Given the description of an element on the screen output the (x, y) to click on. 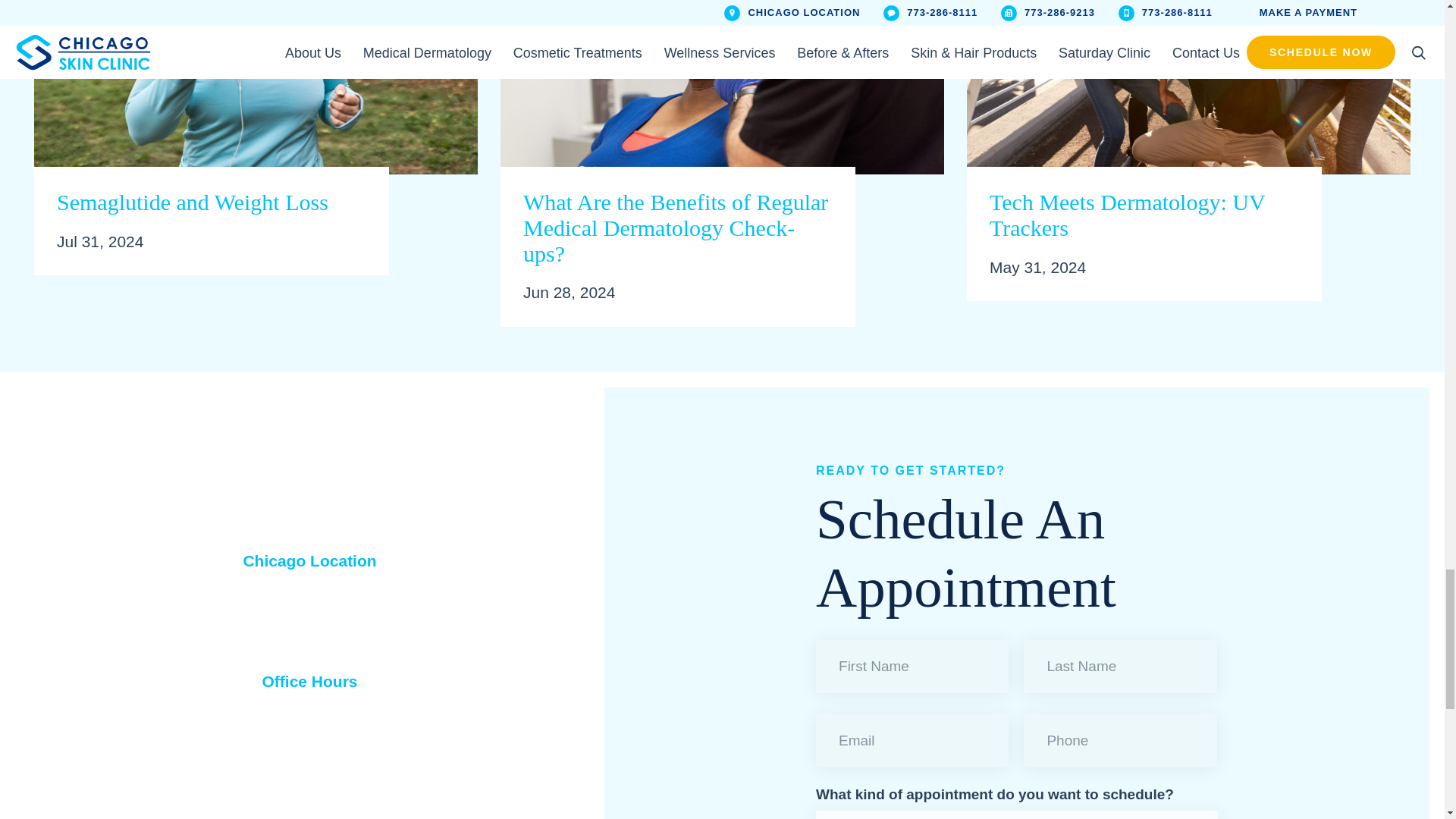
Tech Meets Dermatology: UV Trackers (1188, 102)
Semaglutide and Weight Loss (255, 102)
Tech Meets Dermatology: UV Trackers (1144, 214)
Semaglutide and Weight Loss (211, 202)
